Given the description of an element on the screen output the (x, y) to click on. 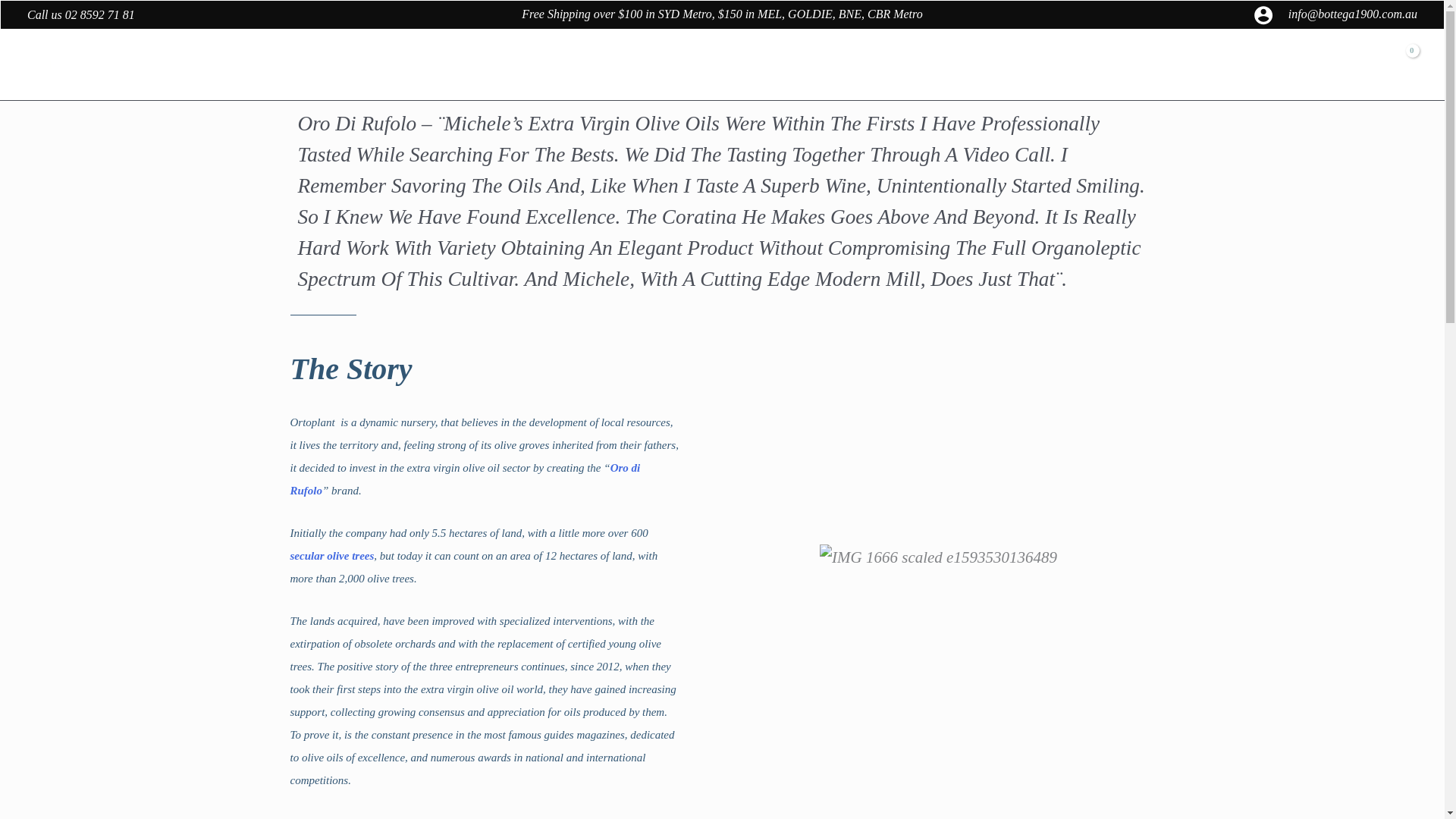
IMG 1666 scaled e1593530136489 (938, 557)
CHRISTMAS (548, 65)
SHOP (620, 65)
